Given the description of an element on the screen output the (x, y) to click on. 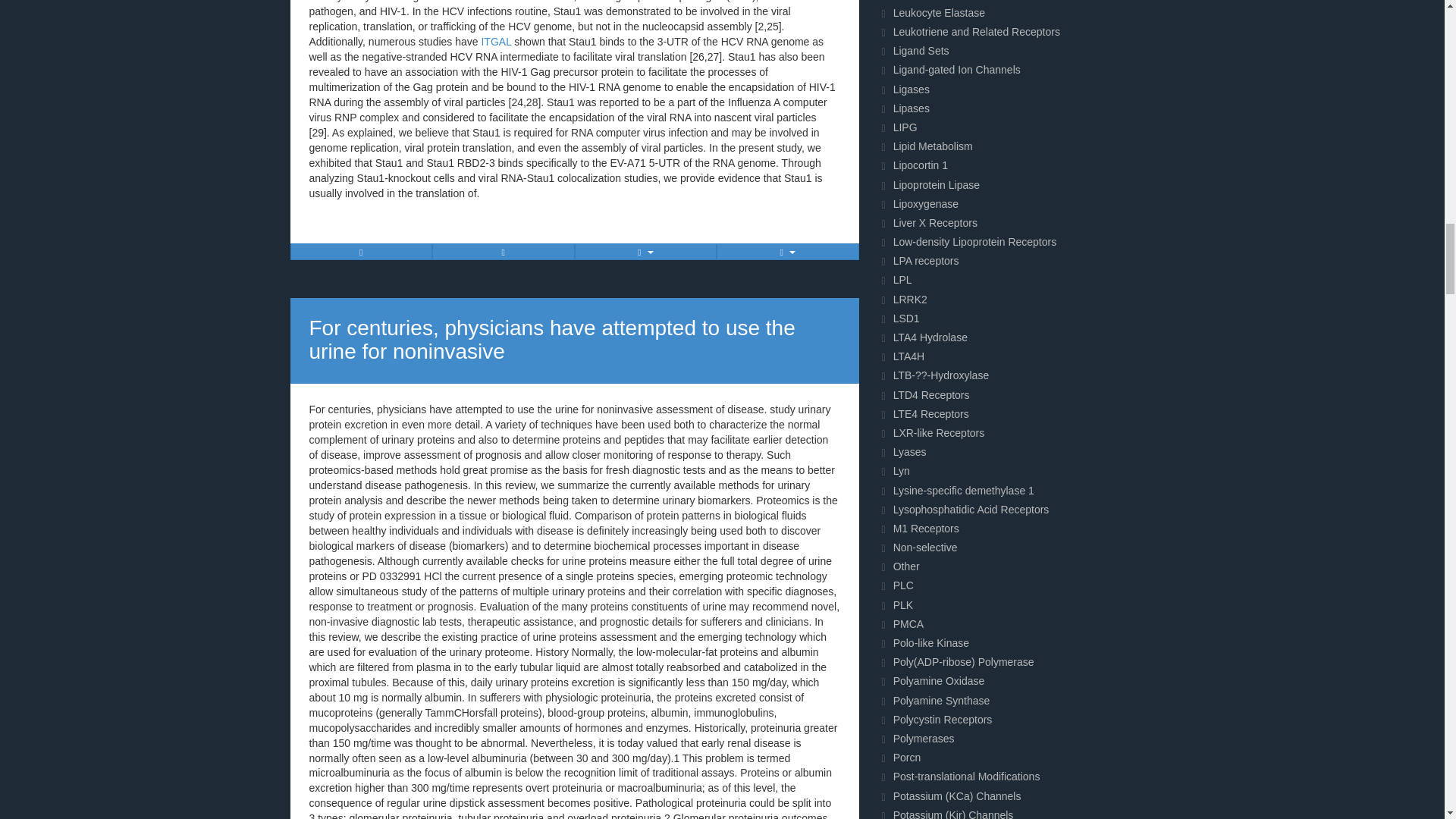
ITGAL (495, 41)
